Given the description of an element on the screen output the (x, y) to click on. 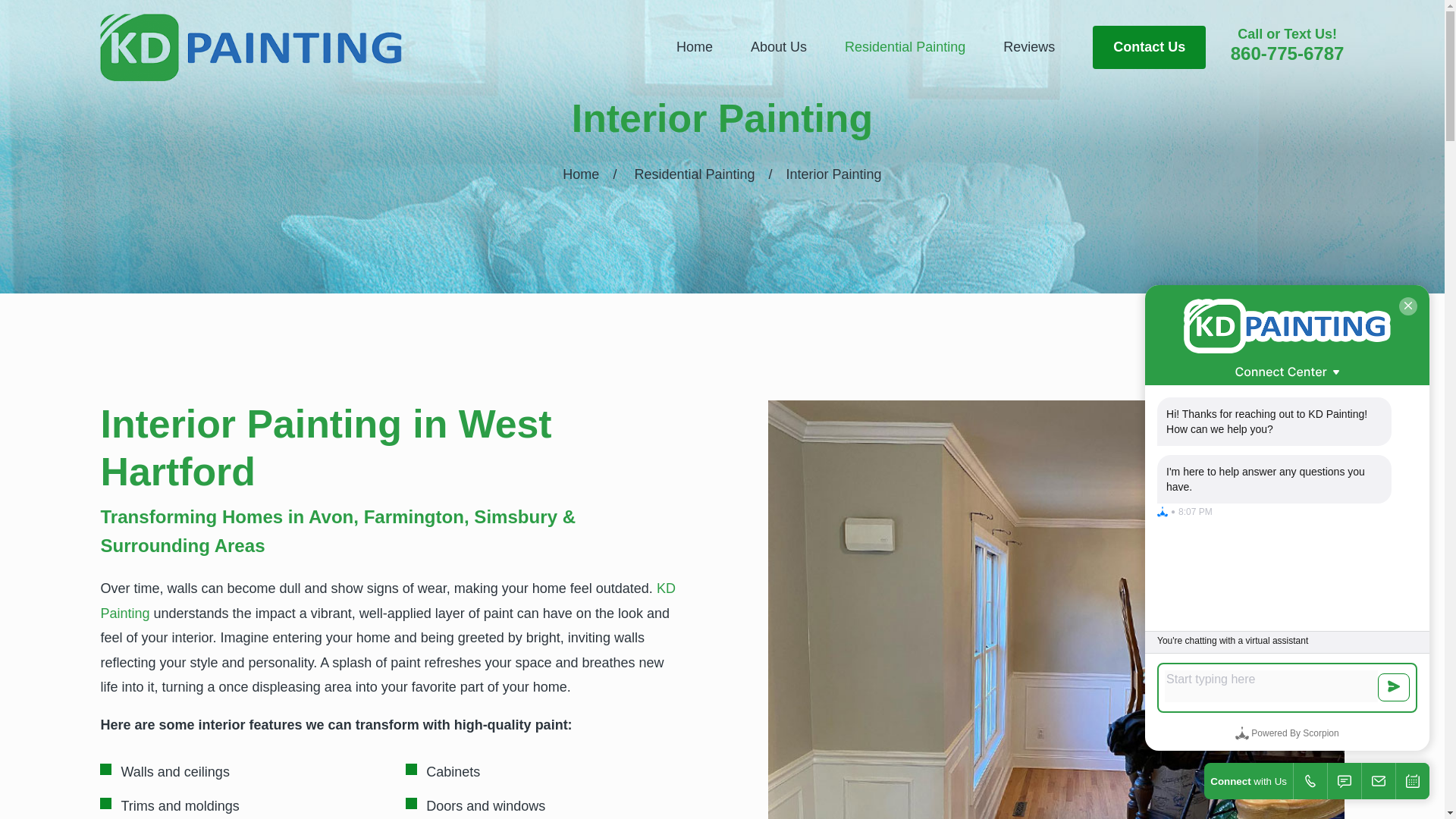
Residential Painting (693, 174)
Contact Us (1149, 47)
860-775-6787 (1286, 53)
Home (250, 47)
Residential Painting (904, 46)
Home (580, 174)
About Us (778, 46)
Go Home (580, 174)
Reviews (1028, 46)
KD Painting (387, 599)
